Given the description of an element on the screen output the (x, y) to click on. 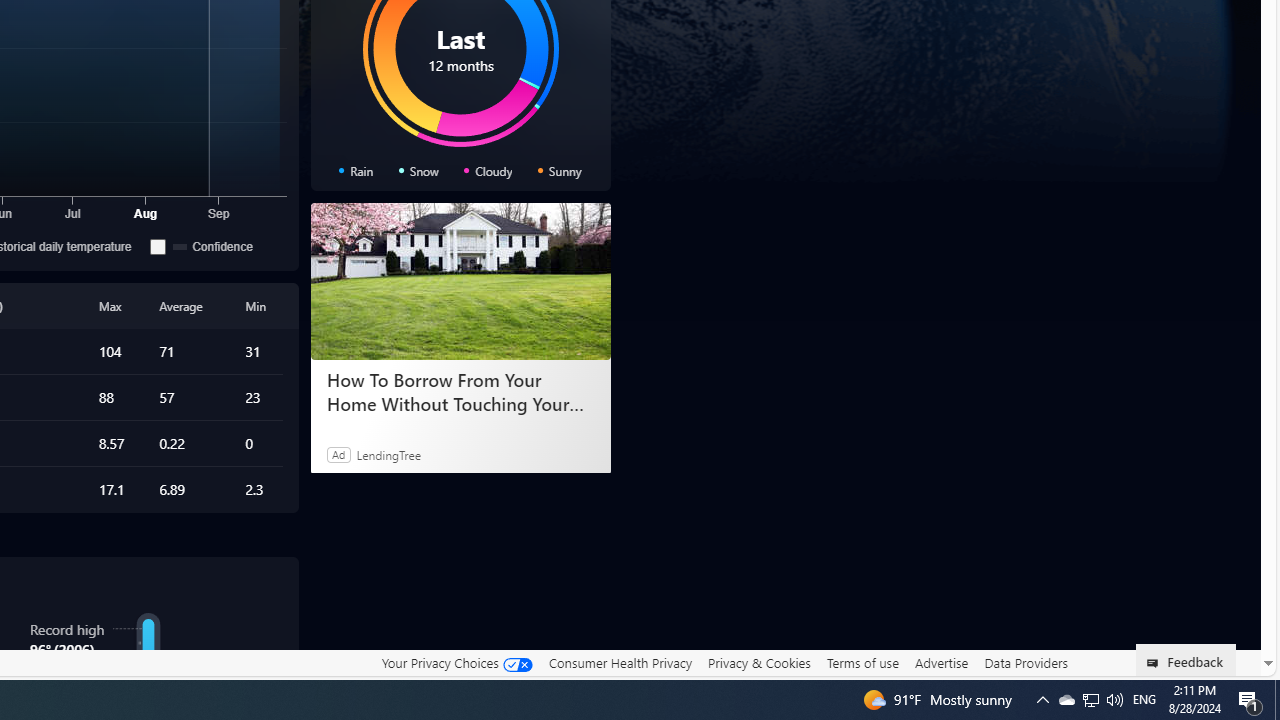
Data Providers (1025, 662)
Privacy & Cookies (759, 662)
Class: feedback_link_icon-DS-EntryPoint1-1 (1156, 663)
Confidence (157, 246)
Confidence (214, 246)
